Given the description of an element on the screen output the (x, y) to click on. 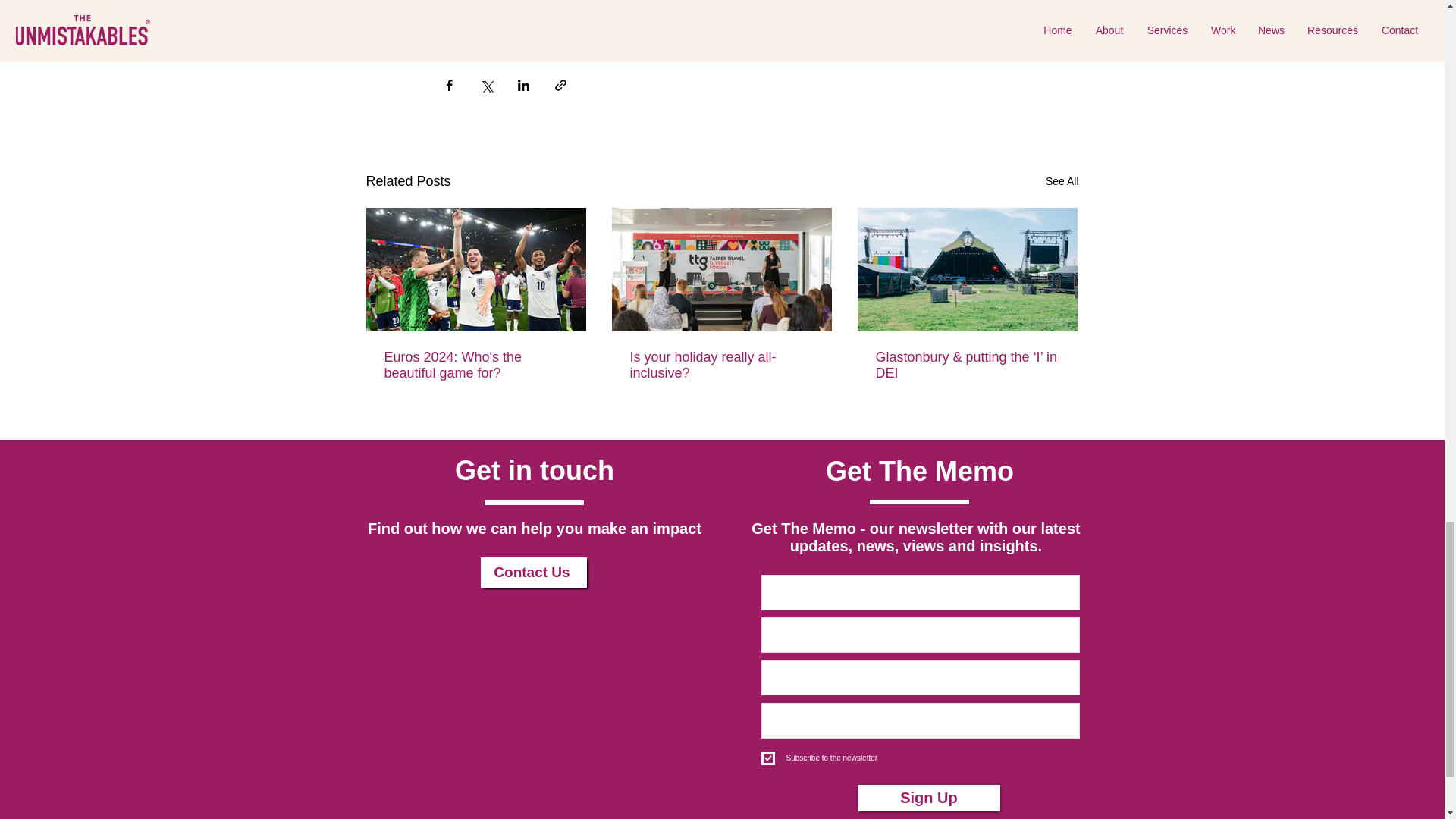
Euros 2024: Who's the beautiful game for? (475, 365)
Sign Up (929, 797)
Is your holiday really all-inclusive? (720, 365)
Contact Us (533, 572)
See All (1061, 181)
